Given the description of an element on the screen output the (x, y) to click on. 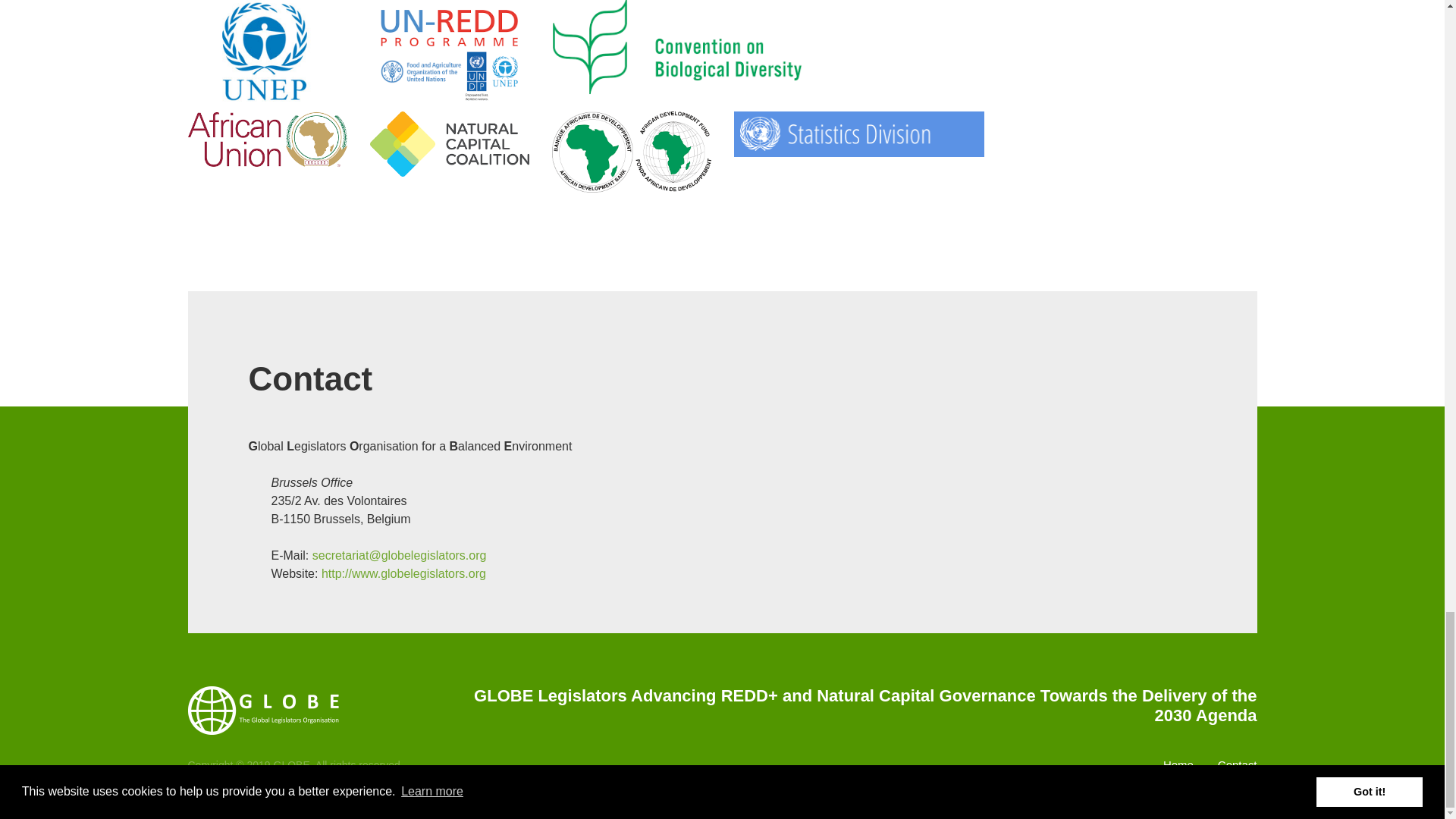
GLOBE (263, 709)
